Given the description of an element on the screen output the (x, y) to click on. 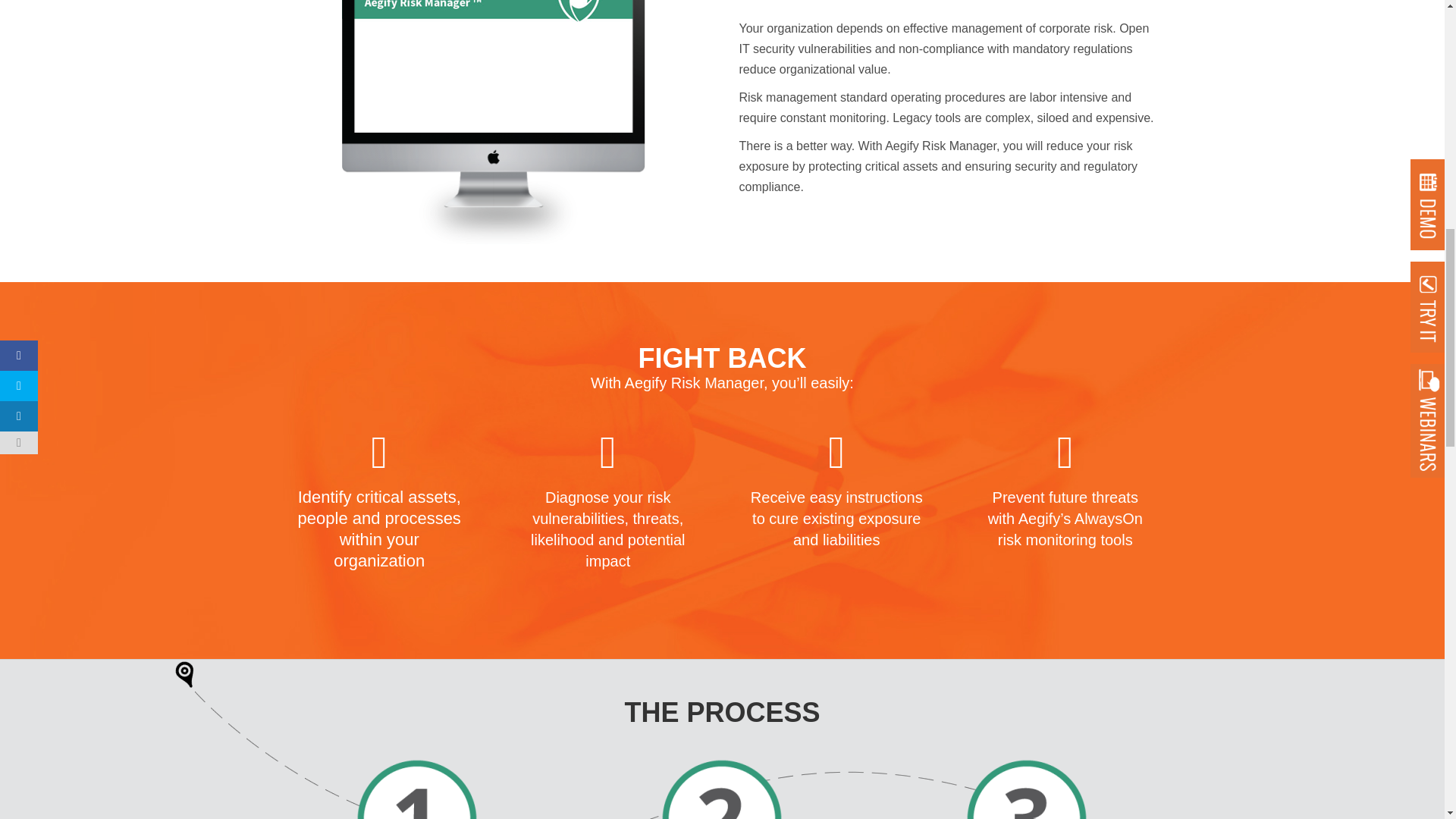
process-3 (1026, 789)
process-1 (416, 789)
Page 1 (949, 107)
process-2 (722, 789)
Page 1 (722, 383)
